Given the description of an element on the screen output the (x, y) to click on. 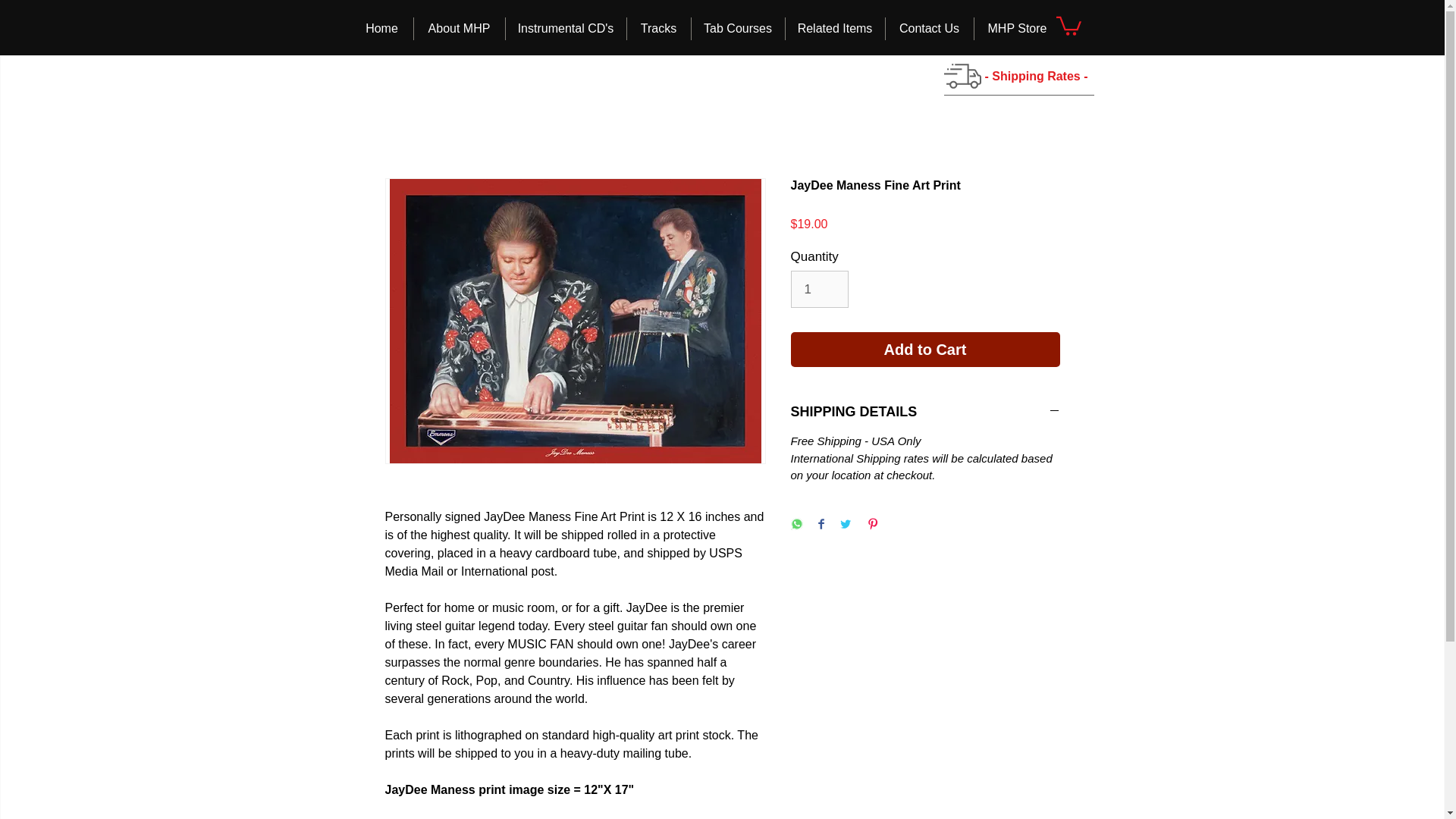
Instrumental CD's (565, 28)
MHP Store (1016, 28)
- Shipping Rates - (1036, 76)
Home (381, 28)
Contact Us (929, 28)
About MHP (459, 28)
1 (818, 289)
SHIPPING DETAILS (924, 411)
Add to Cart (924, 349)
